Given the description of an element on the screen output the (x, y) to click on. 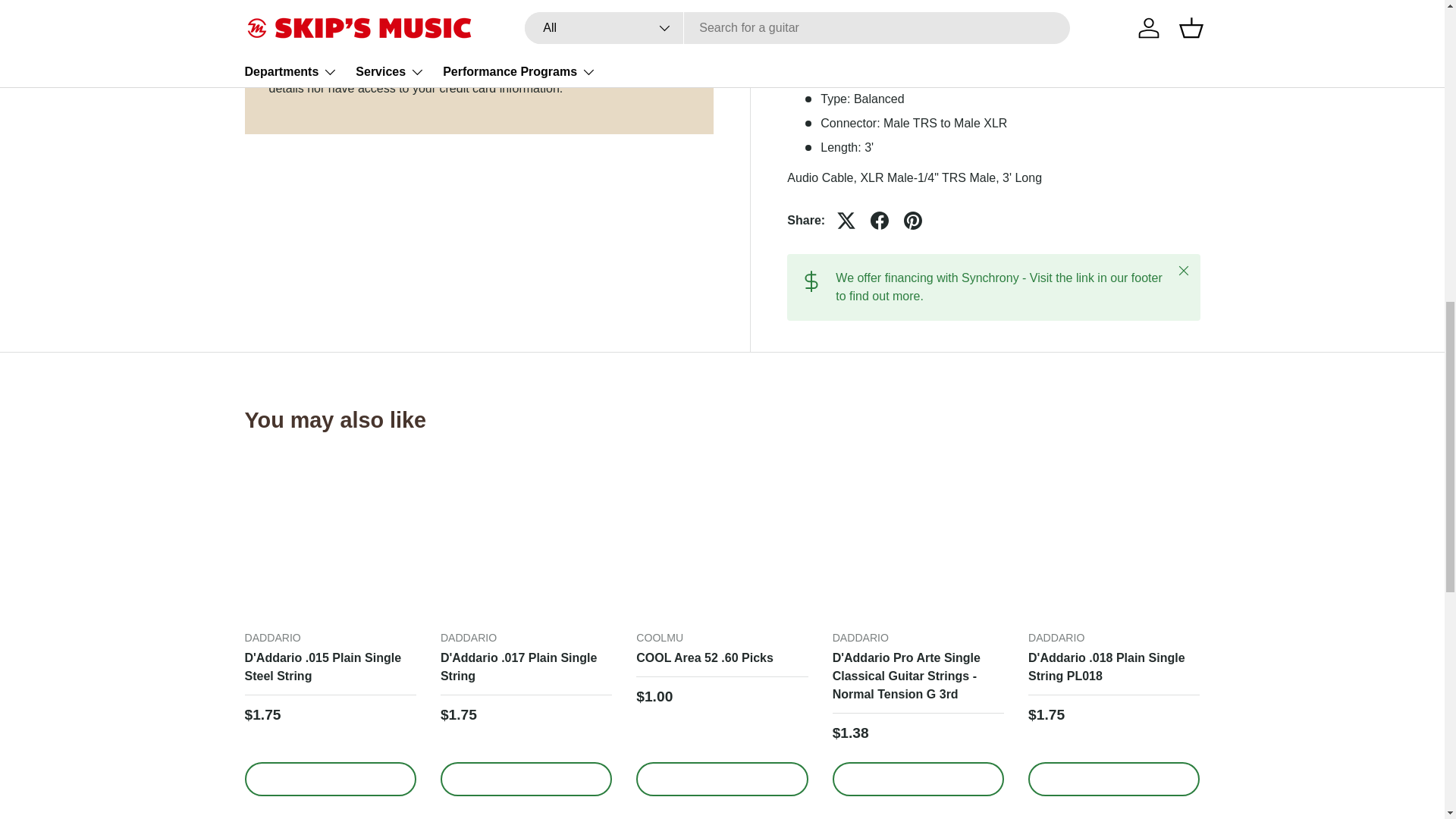
Tweet on X (846, 220)
Share on Facebook (879, 220)
Pin on Pinterest (913, 220)
